Given the description of an element on the screen output the (x, y) to click on. 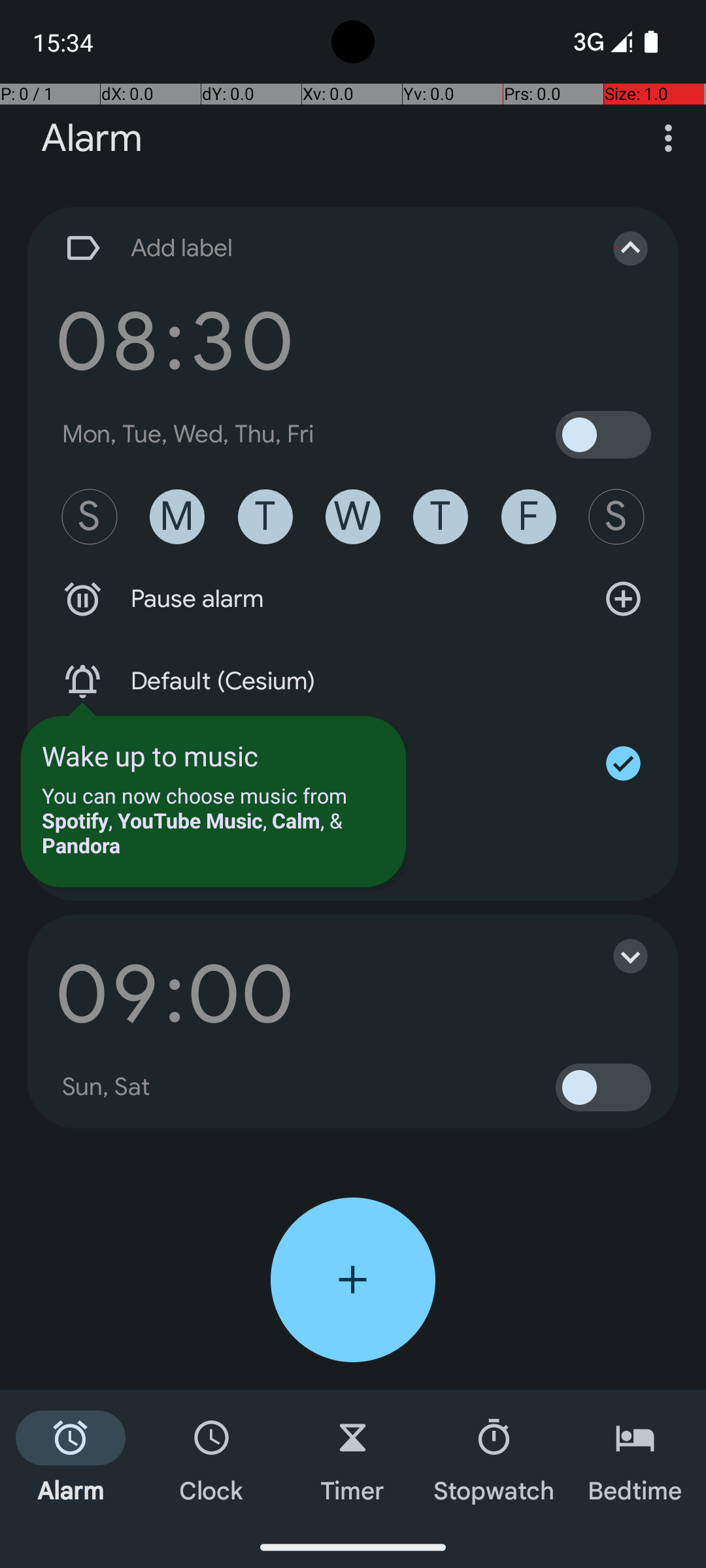
Add alarm Element type: android.widget.Button (352, 1279)
Add label Element type: android.widget.TextView (318, 248)
Collapse alarm Element type: android.widget.ImageButton (616, 248)
08:30 Element type: android.widget.TextView (174, 341)
Mon, Tue, Wed, Thu, Fri Element type: android.widget.TextView (187, 433)
S Element type: android.widget.CheckBox (89, 516)
M Element type: android.widget.CheckBox (176, 516)
T Element type: android.widget.CheckBox (265, 516)
W Element type: android.widget.CheckBox (352, 516)
F Element type: android.widget.CheckBox (528, 516)
Pause alarm Element type: android.widget.TextView (352, 598)
Default (Cesium) Element type: android.widget.TextView (352, 681)
Vibrate Element type: android.widget.CheckBox (352, 763)
09:00 Element type: android.widget.TextView (174, 993)
Expand alarm Element type: android.widget.ImageButton (616, 955)
Sun, Sat Element type: android.widget.TextView (106, 1086)
Wake up to music Element type: android.widget.TextView (149, 755)
You can now choose music from Spotify, YouTube Music, Calm, & Pandora Element type: android.widget.TextView (213, 820)
